Given the description of an element on the screen output the (x, y) to click on. 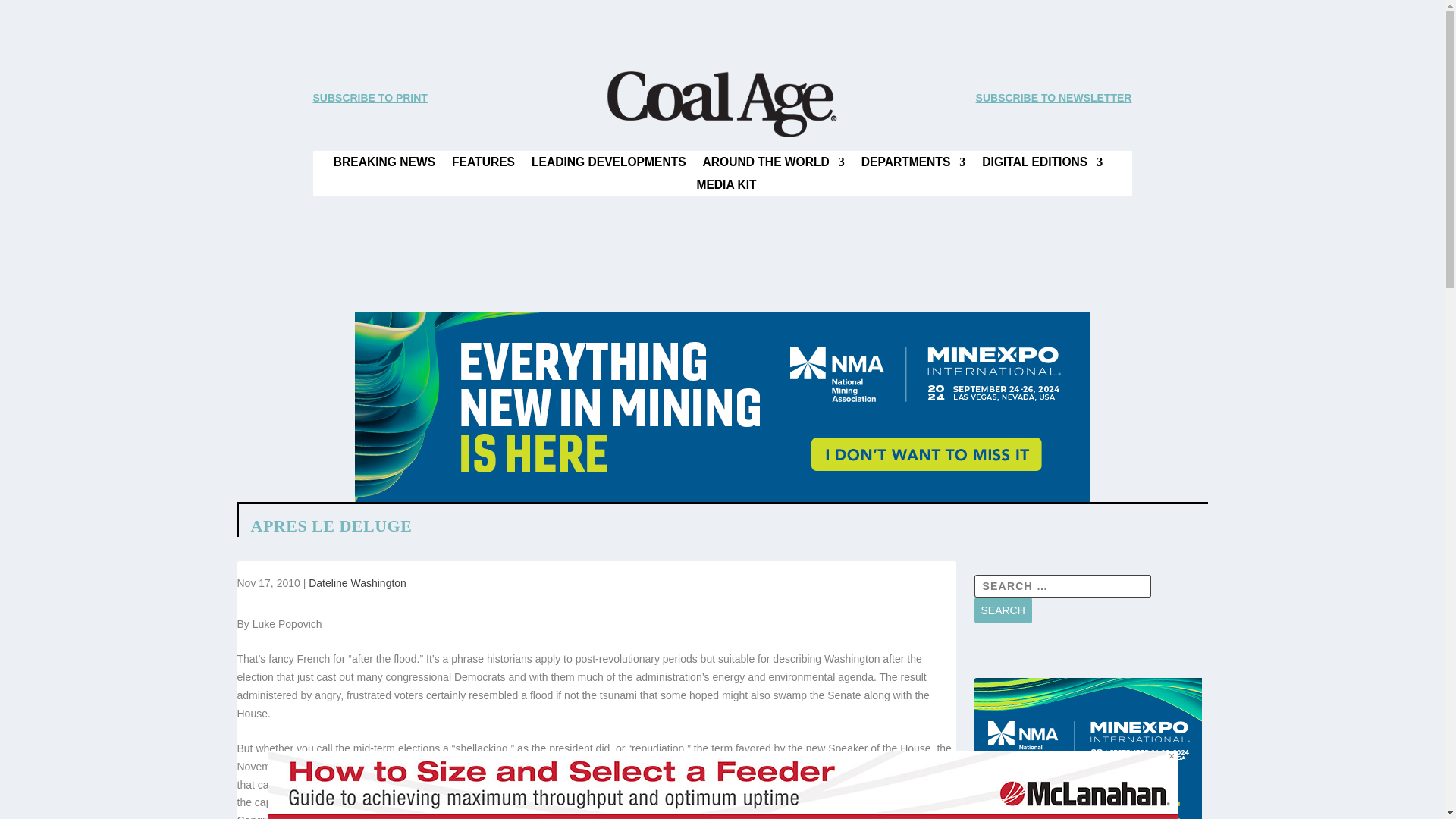
AROUND THE WORLD (773, 165)
DEPARTMENTS (913, 165)
FEATURES (483, 165)
BREAKING NEWS (384, 165)
Search (1002, 610)
Coal Age logo (721, 104)
SUBSCRIBE TO PRINT (369, 97)
SUBSCRIBE TO NEWSLETTER (1053, 97)
LEADING DEVELOPMENTS (608, 165)
Search (1002, 610)
